Given the description of an element on the screen output the (x, y) to click on. 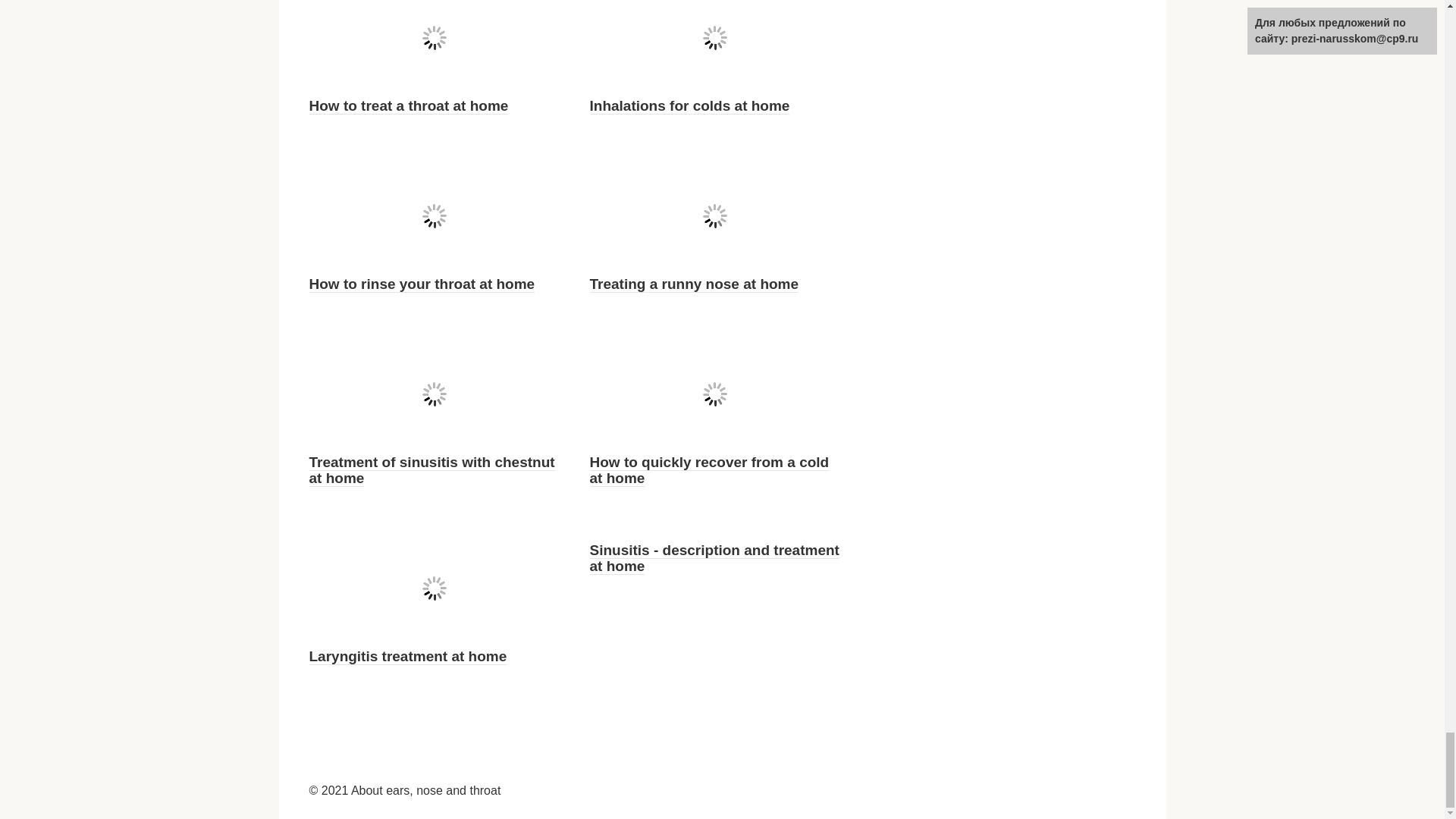
Treating a runny nose at home (694, 284)
Laryngitis treatment at home (407, 656)
How to quickly recover from a cold at home (709, 470)
Treatment of sinusitis with chestnut at home (431, 470)
How to rinse your throat at home (421, 284)
Inhalations for colds at home (689, 105)
How to treat a throat at home (408, 105)
